Given the description of an element on the screen output the (x, y) to click on. 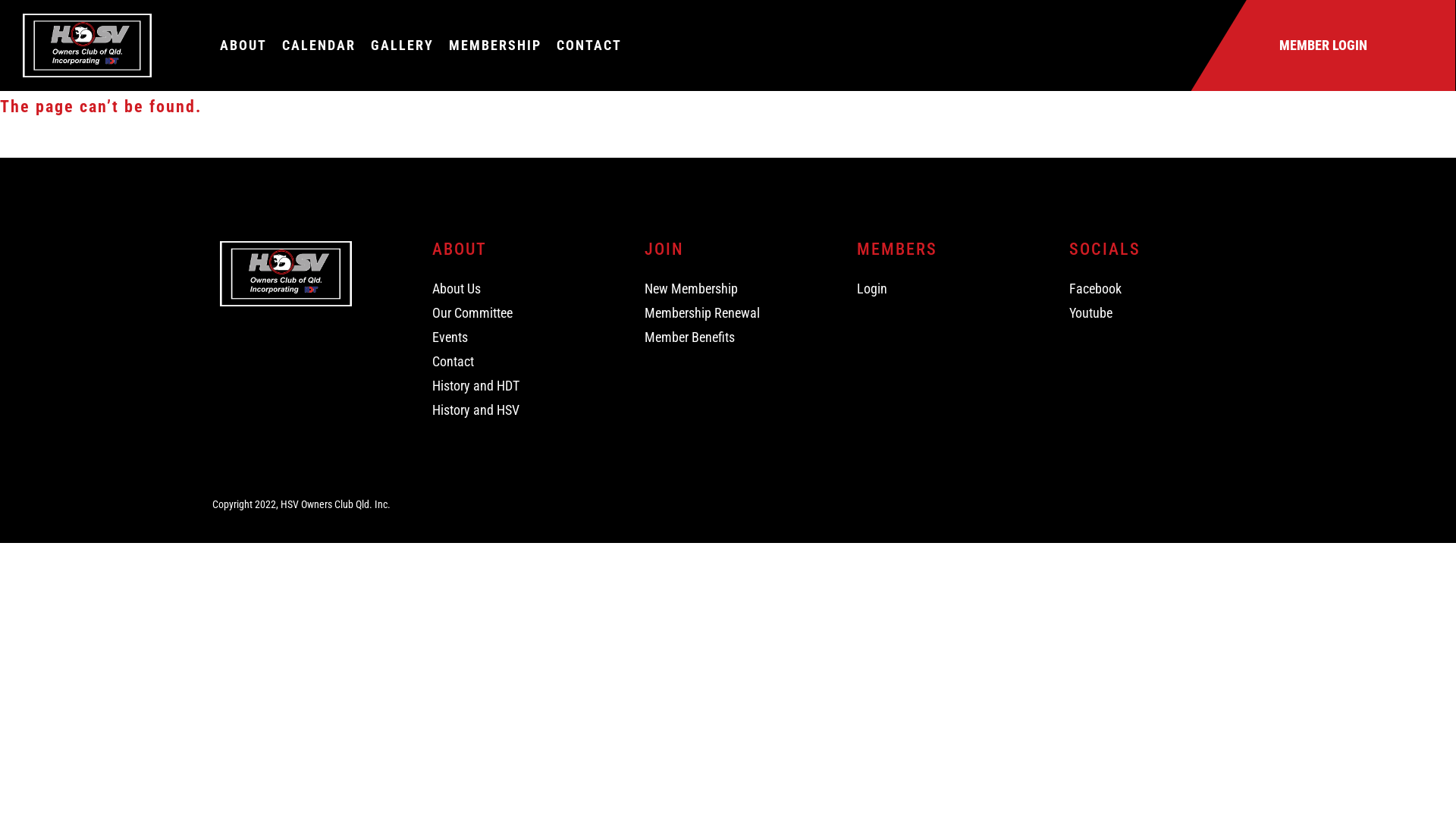
CALENDAR Element type: text (318, 45)
MEMBERSHIP Element type: text (494, 45)
Facebook Element type: text (1152, 288)
Events Element type: text (515, 337)
GALLERY Element type: text (401, 45)
Member Benefits Element type: text (727, 337)
CONTACT Element type: text (588, 45)
About Us Element type: text (515, 288)
New Membership Element type: text (727, 288)
History and HDT Element type: text (515, 385)
ABOUT Element type: text (242, 45)
Our Committee Element type: text (515, 312)
Youtube Element type: text (1152, 312)
Contact Element type: text (515, 361)
Login Element type: text (939, 288)
Membership Renewal Element type: text (727, 312)
History and HSV Element type: text (515, 409)
